Given the description of an element on the screen output the (x, y) to click on. 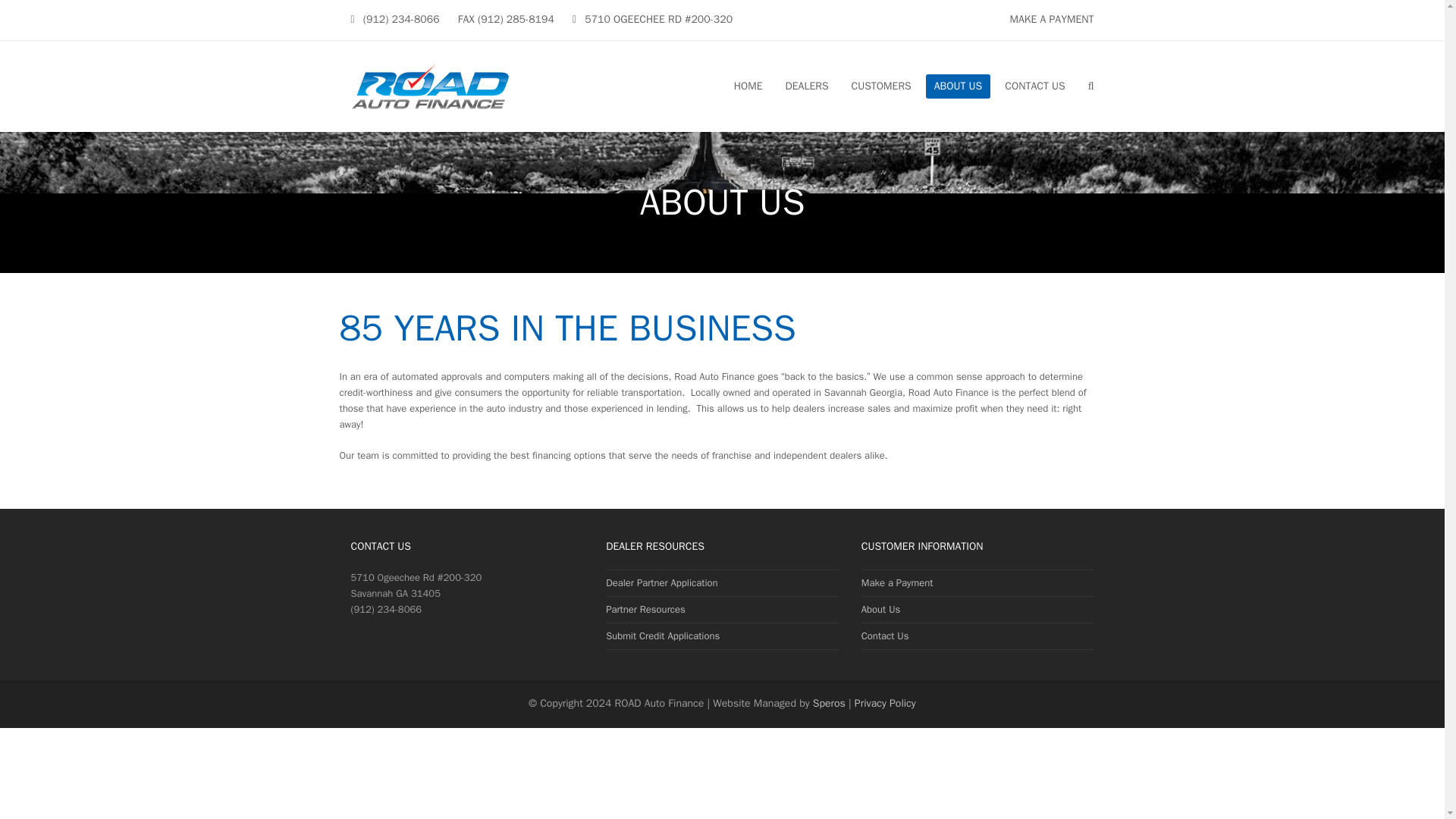
Dealer Partner Application (661, 582)
CUSTOMERS (881, 86)
DEALERS (806, 86)
Submit Credit Applications (662, 635)
Make a Payment (897, 582)
Speros (828, 703)
MAKE A PAYMENT (1051, 19)
ABOUT US (958, 86)
About Us (880, 608)
HOME (748, 86)
